Given the description of an element on the screen output the (x, y) to click on. 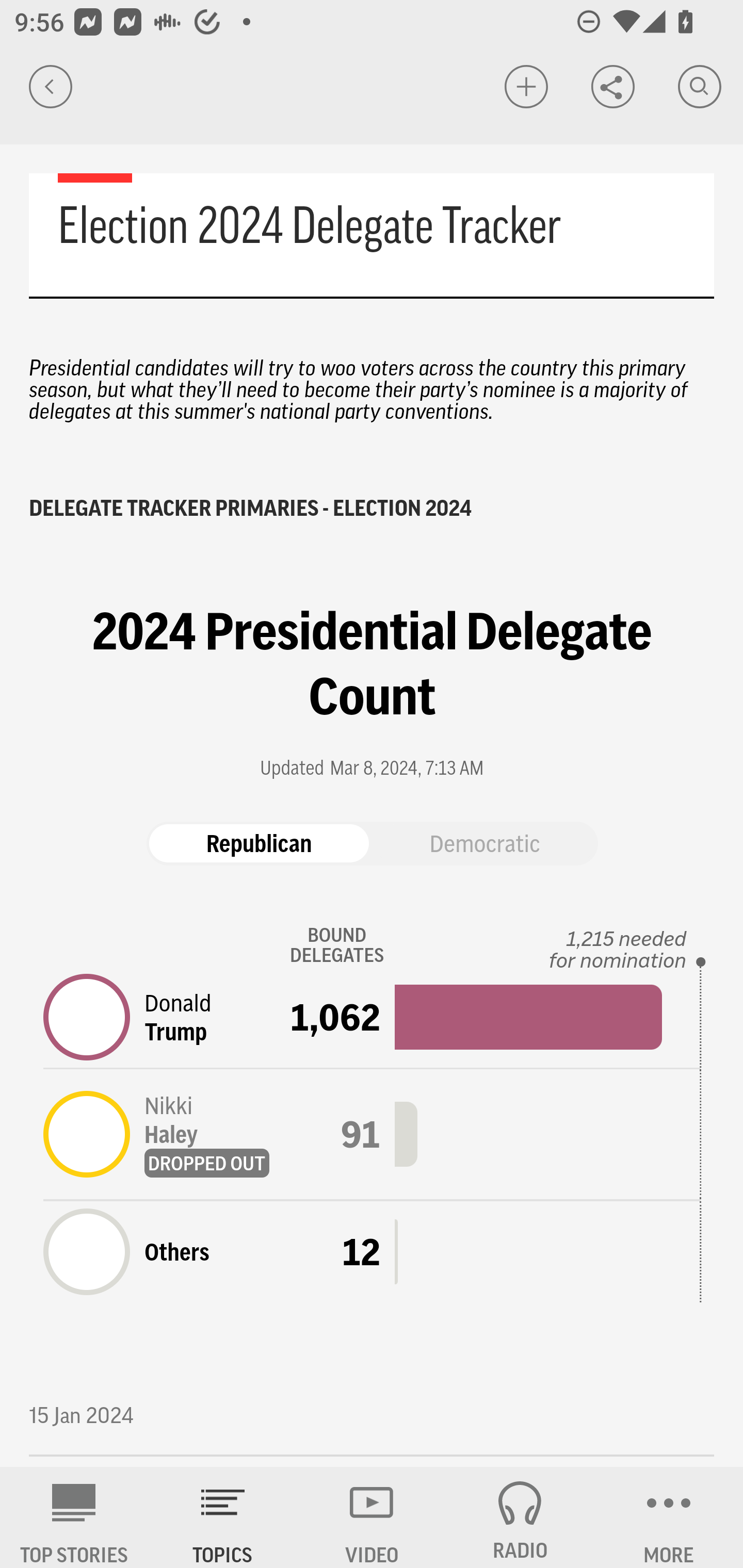
Republican (258, 843)
Democratic (484, 843)
AP News TOP STORIES (74, 1517)
TOPICS (222, 1517)
VIDEO (371, 1517)
RADIO (519, 1517)
MORE (668, 1517)
